Given the description of an element on the screen output the (x, y) to click on. 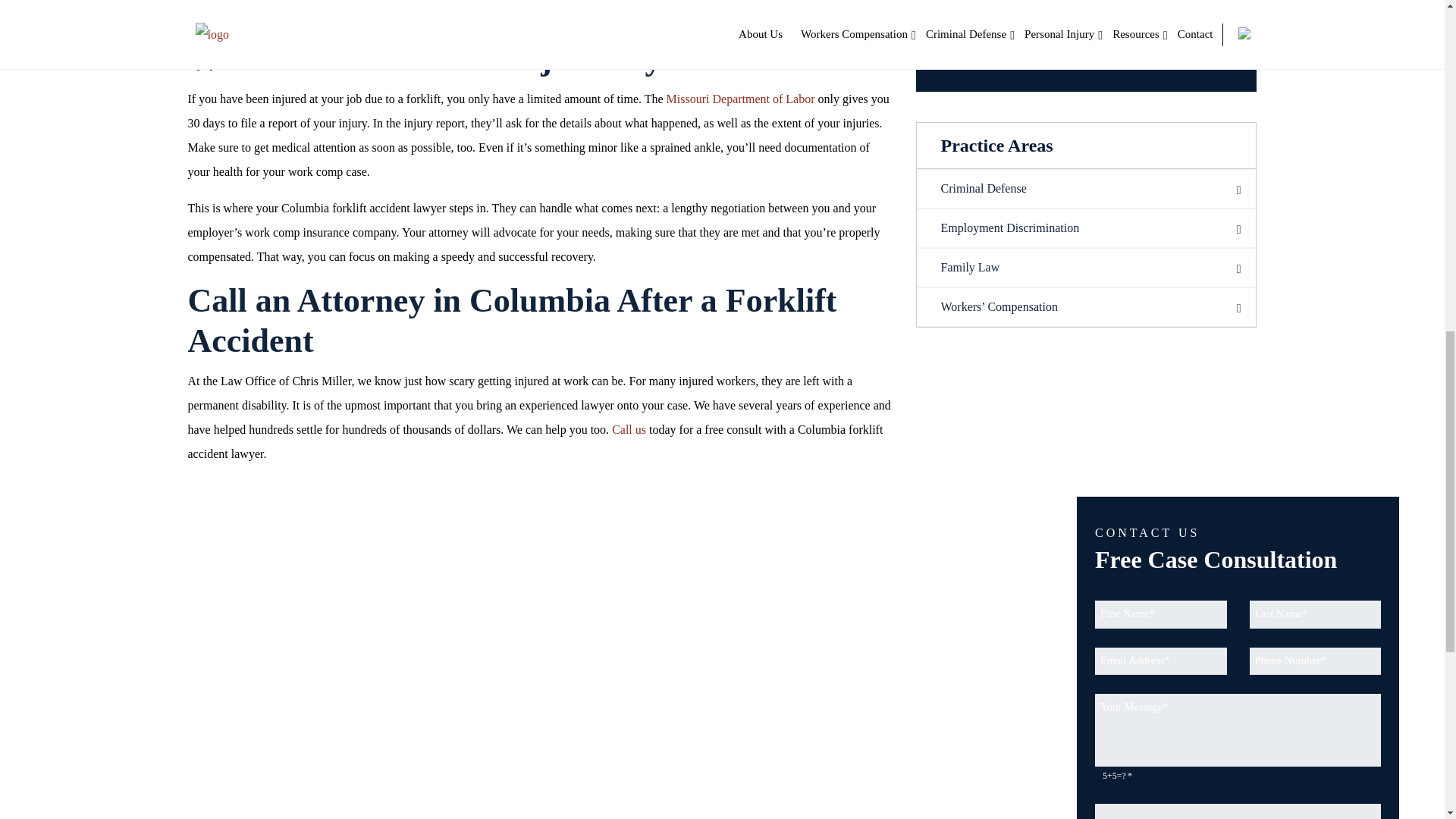
Submit (1086, 24)
